Given the description of an element on the screen output the (x, y) to click on. 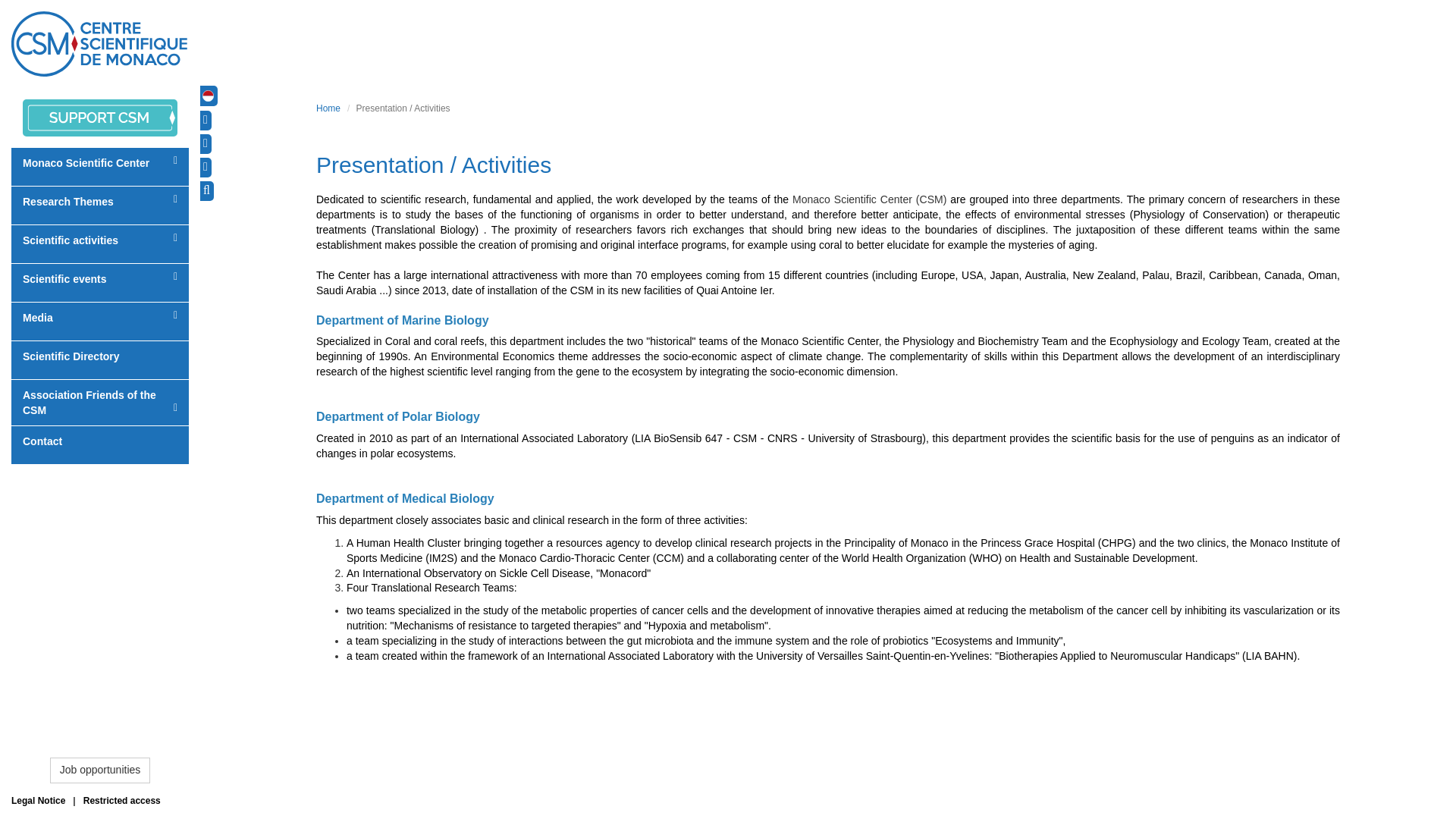
Scientific activities (100, 243)
Monaco Scientific Center (100, 166)
Research Themes (100, 205)
